Given the description of an element on the screen output the (x, y) to click on. 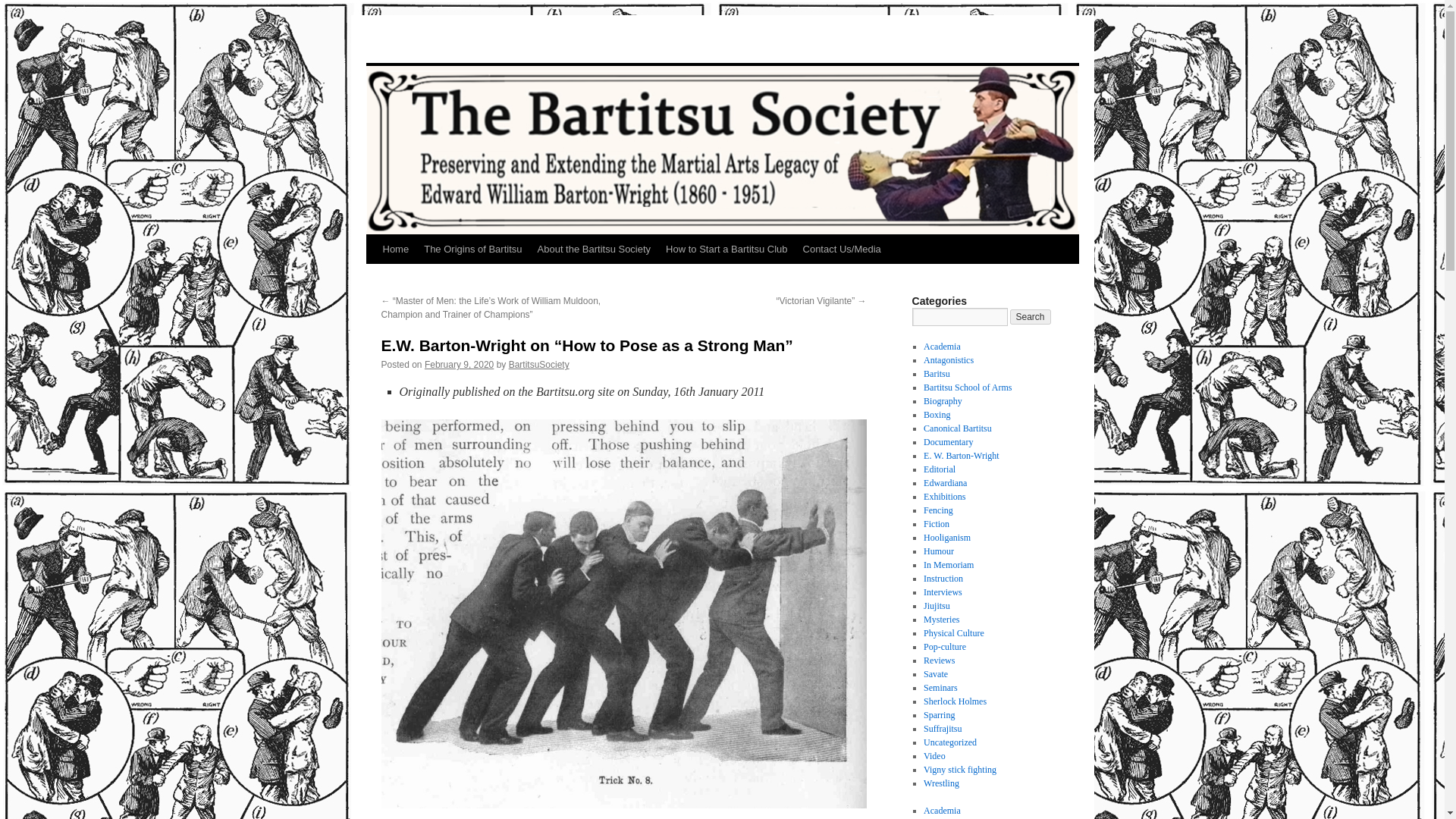
2:16 pm (459, 364)
Exhibitions (944, 496)
Biography (942, 400)
Antagonistics (948, 359)
About the Bartitsu Society (594, 249)
View all posts by BartitsuSociety (538, 364)
The Origins of Bartitsu (472, 249)
How to Start a Bartitsu Club (726, 249)
Home (395, 249)
Editorial (939, 469)
